Given the description of an element on the screen output the (x, y) to click on. 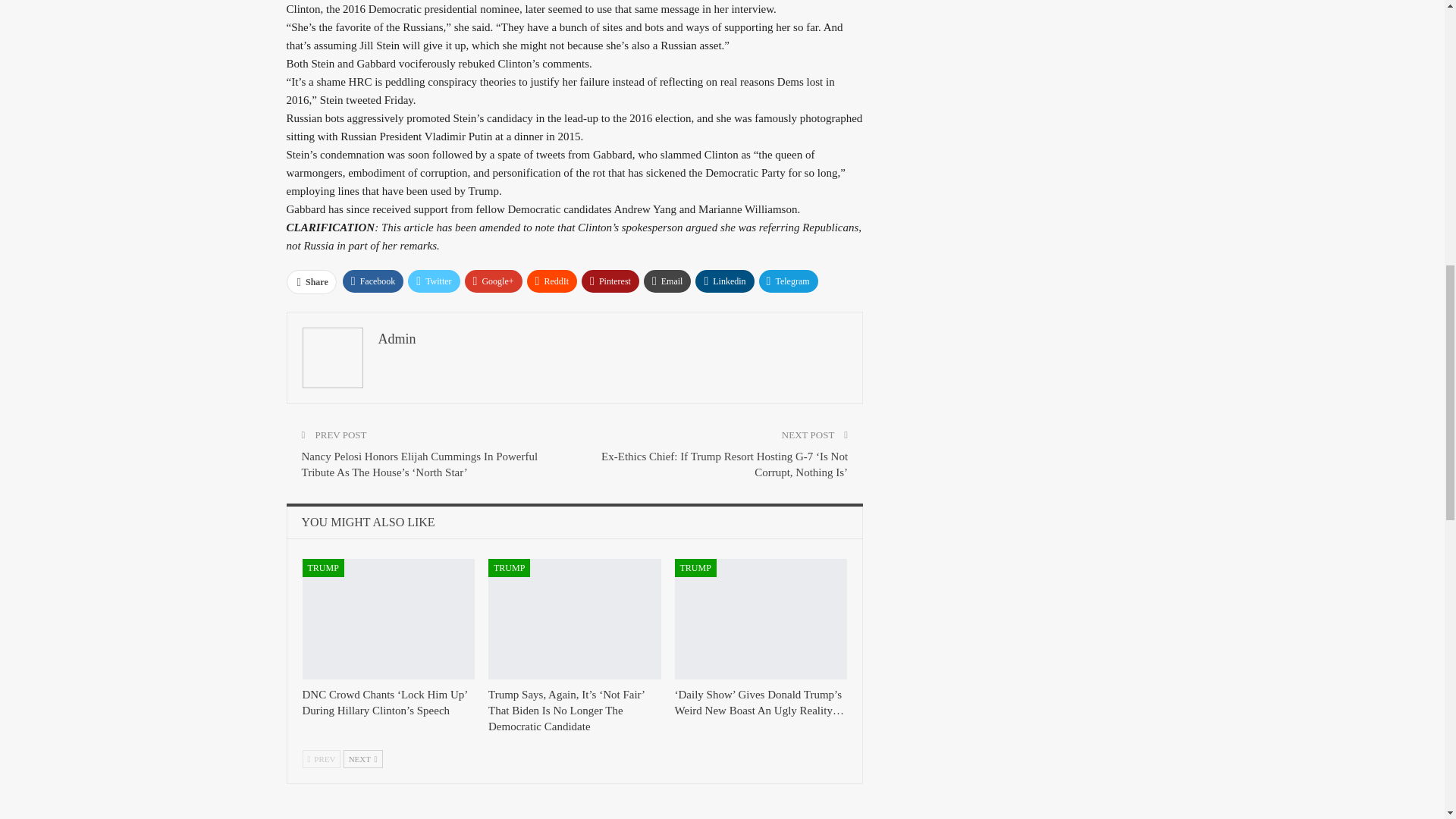
Telegram (788, 281)
Pinterest (609, 281)
Previous (320, 759)
Linkedin (724, 281)
Twitter (433, 281)
Facebook (373, 281)
ReddIt (552, 281)
Next (362, 759)
Email (667, 281)
